Given the description of an element on the screen output the (x, y) to click on. 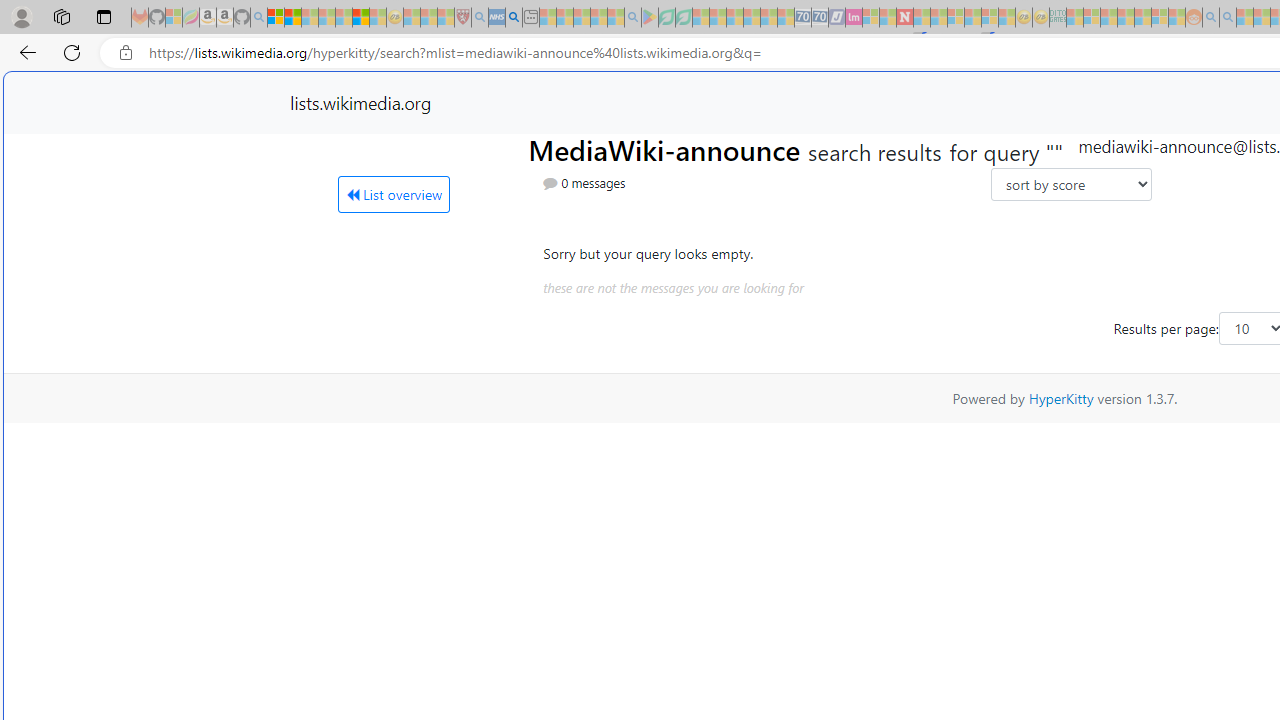
lists.wikimedia.org (360, 102)
MediaWiki-announce  (667, 148)
